Given the description of an element on the screen output the (x, y) to click on. 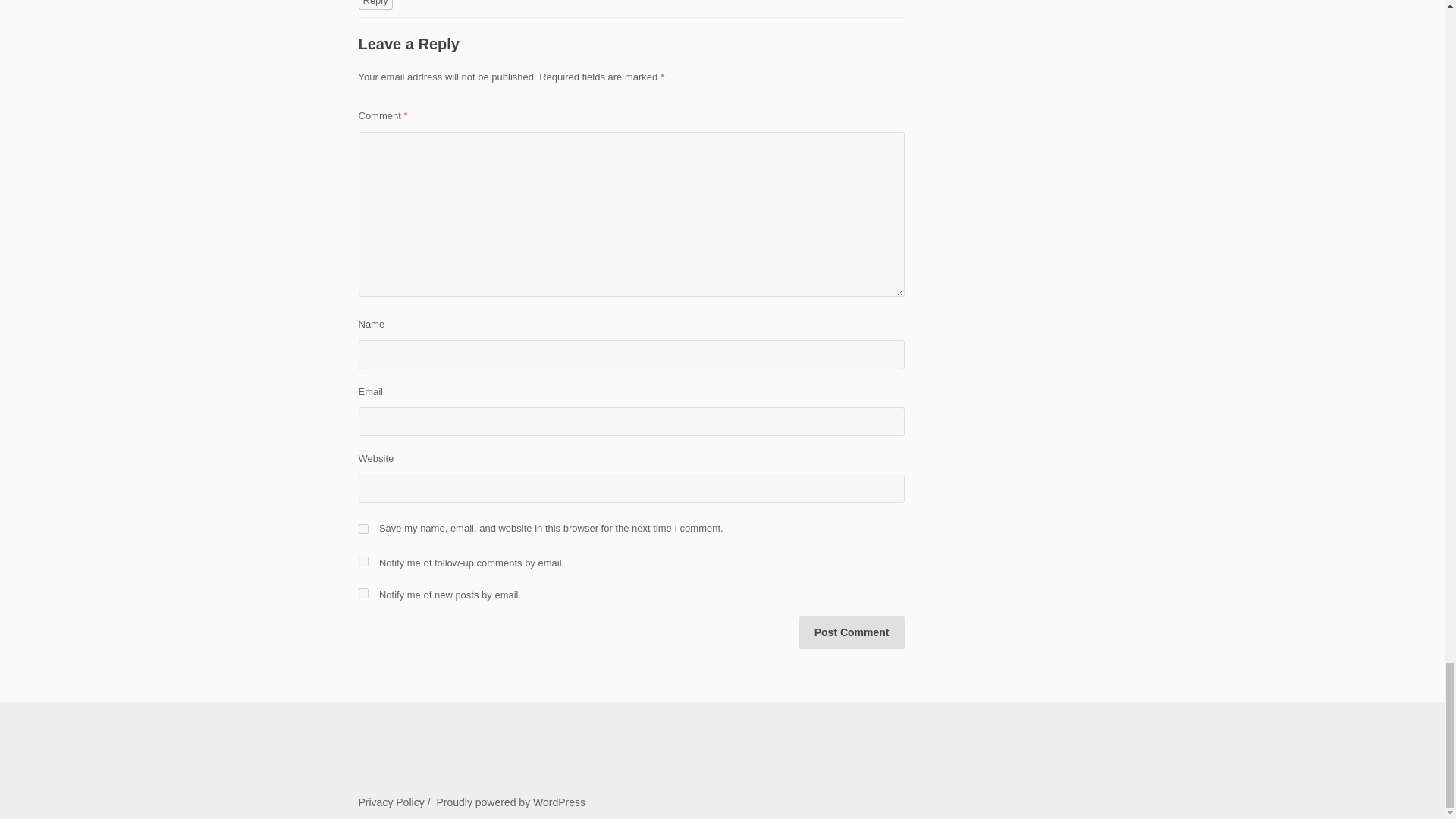
Post Comment (851, 632)
subscribe (363, 561)
subscribe (363, 593)
yes (363, 528)
